Given the description of an element on the screen output the (x, y) to click on. 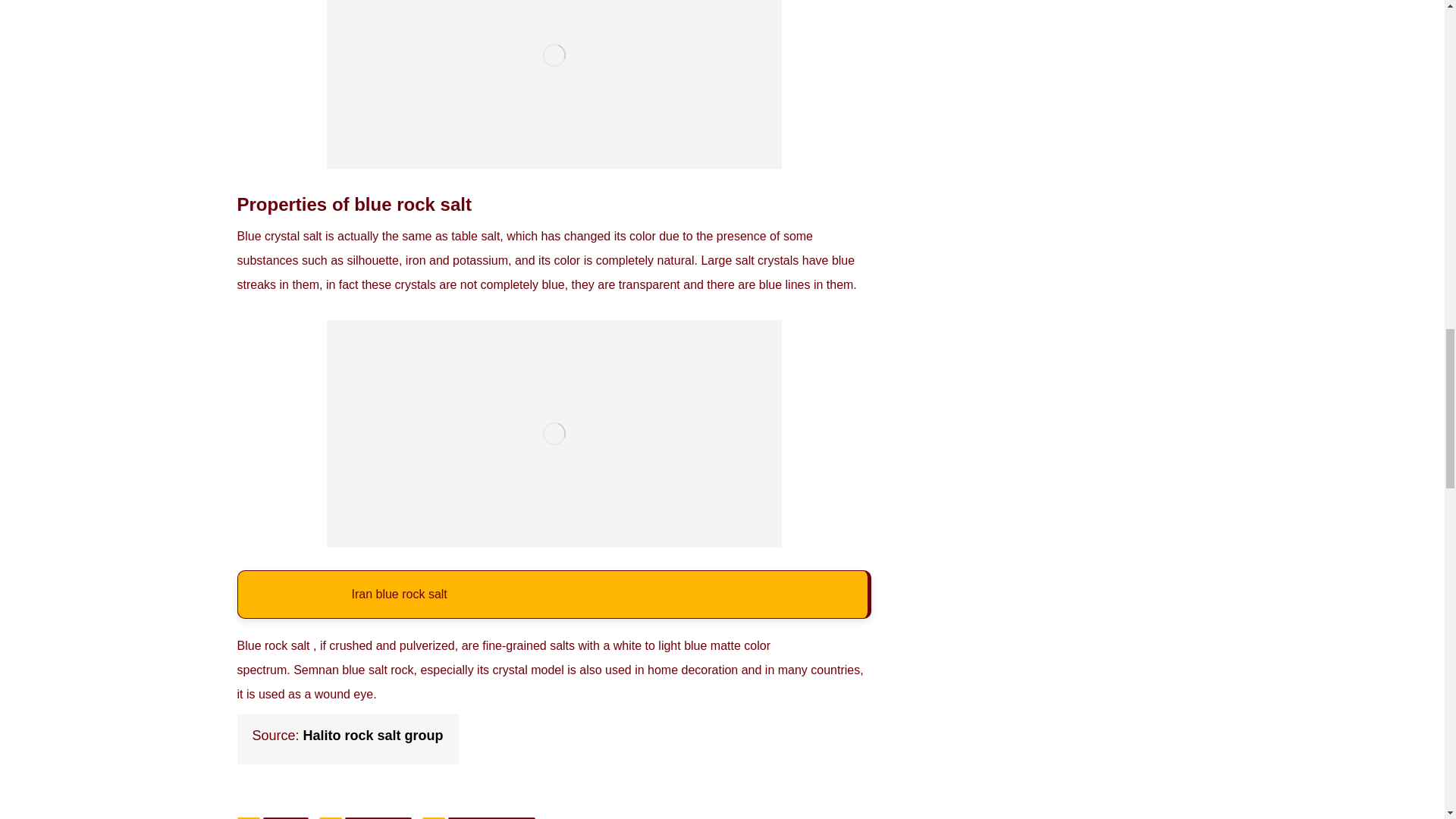
icon (433, 818)
Iran blue rock salt (399, 594)
Persian blue salt (491, 818)
2024-02-28 (377, 818)
icon (330, 818)
icon (247, 818)
Halito rock salt group (373, 735)
Admin (285, 818)
